Given the description of an element on the screen output the (x, y) to click on. 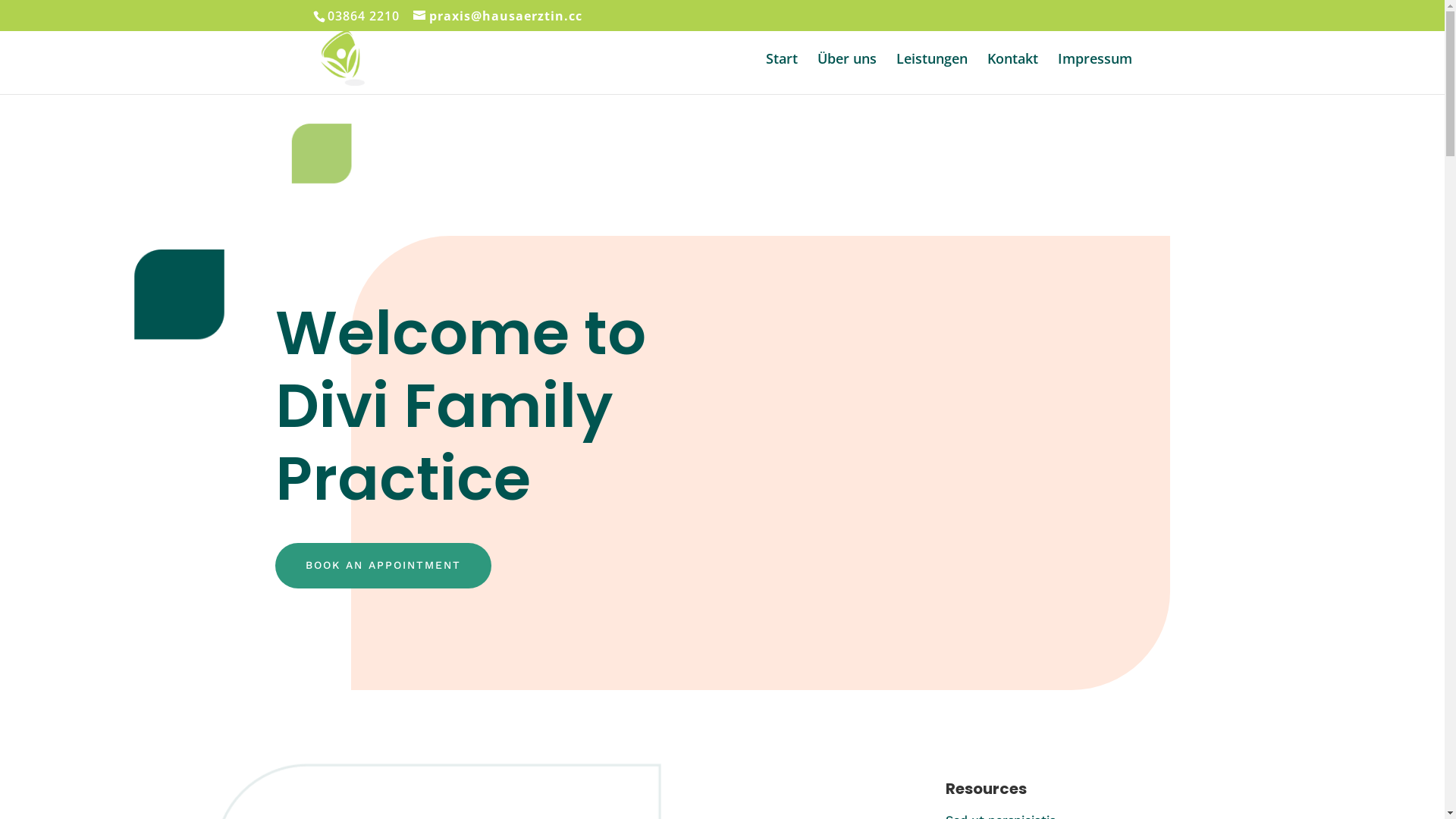
praxis@hausaerztin.cc Element type: text (496, 15)
Leistungen Element type: text (931, 73)
Impressum Element type: text (1094, 73)
Suche Element type: text (23, 15)
BOOK AN APPOINTMENT Element type: text (382, 565)
Start Element type: text (781, 73)
Kontakt Element type: text (1012, 73)
